Given the description of an element on the screen output the (x, y) to click on. 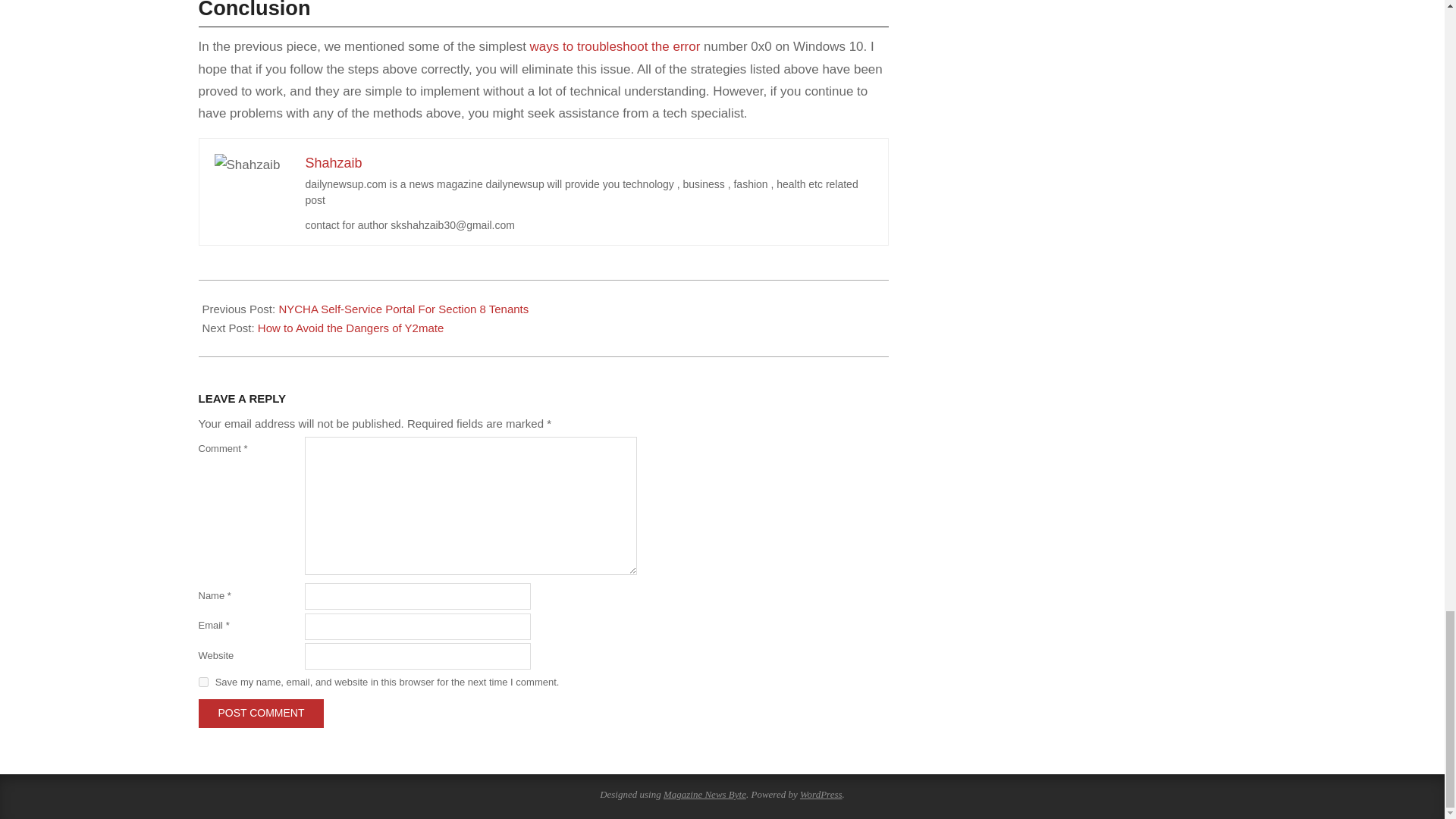
Magazine News Byte WordPress Theme (704, 794)
yes (203, 682)
NYCHA Self-Service Portal For Section 8 Tenants (403, 308)
Magazine News Byte (704, 794)
Shahzaib (332, 162)
WordPress (821, 794)
Post Comment (261, 713)
ways to troubleshoot the error (614, 46)
How to Avoid the Dangers of Y2mate (350, 327)
Post Comment (261, 713)
